Given the description of an element on the screen output the (x, y) to click on. 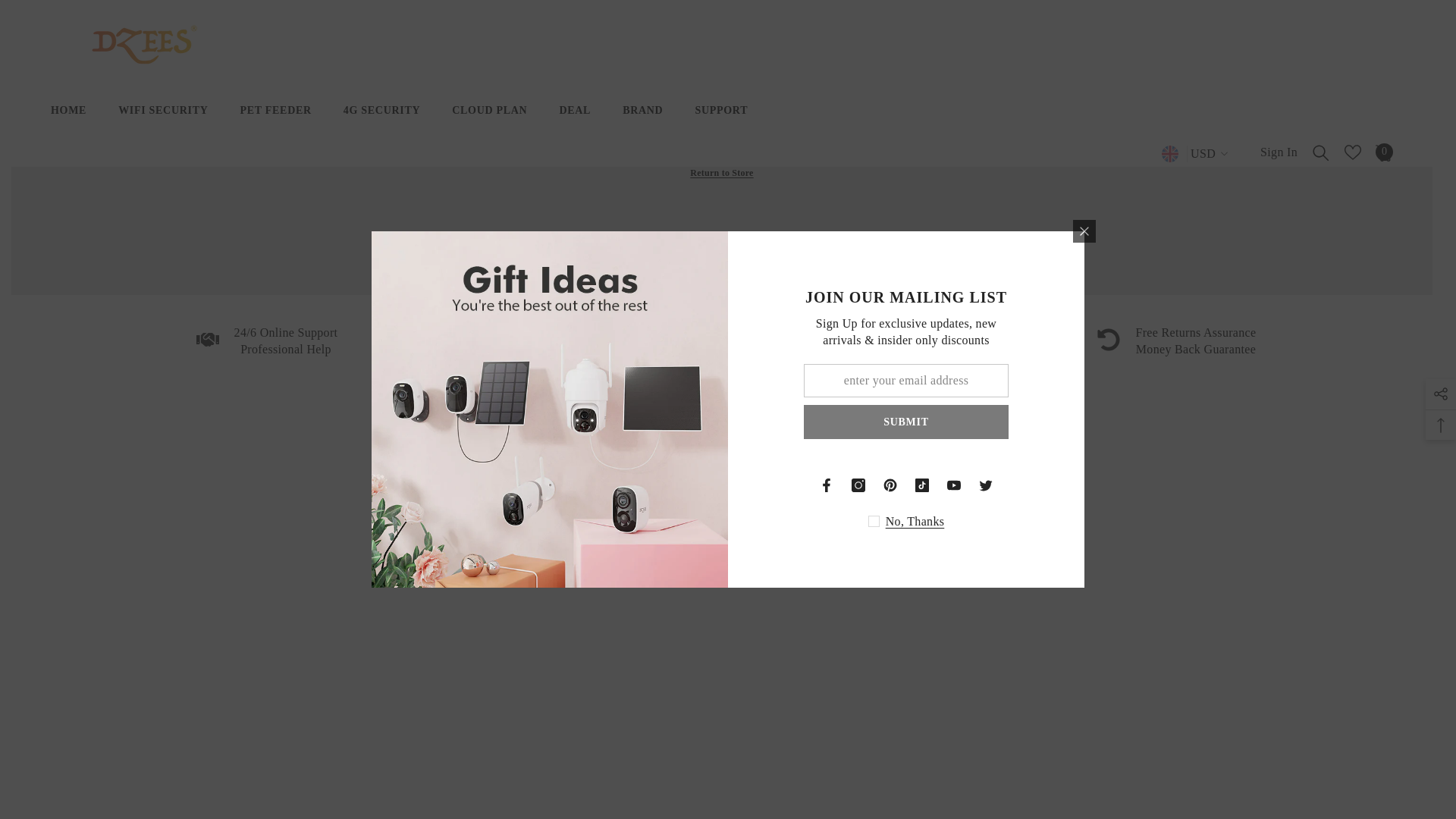
Apple Pay (970, 775)
American Express (922, 775)
Discover (1067, 775)
Visa (777, 775)
Mastercard (825, 775)
Diners Club (1018, 775)
Maestro (873, 775)
